Given the description of an element on the screen output the (x, y) to click on. 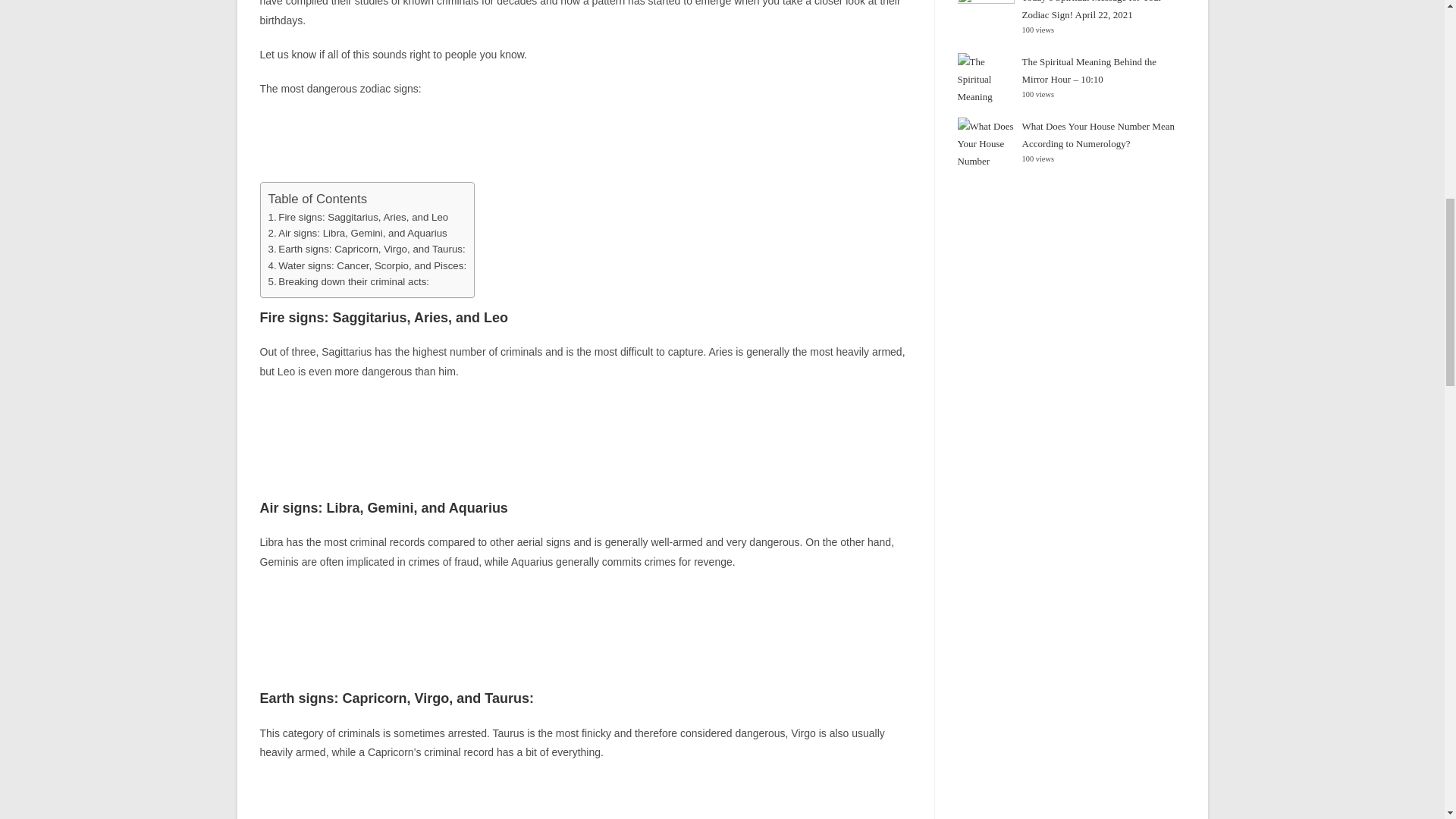
Earth signs: Capricorn, Virgo, and Taurus: (366, 248)
Water signs: Cancer, Scorpio, and Pisces: (367, 265)
Air signs: Libra, Gemini, and Aquarius (356, 233)
Fire signs: Saggitarius, Aries, and Leo (357, 216)
Breaking down their criminal acts: (348, 281)
